Given the description of an element on the screen output the (x, y) to click on. 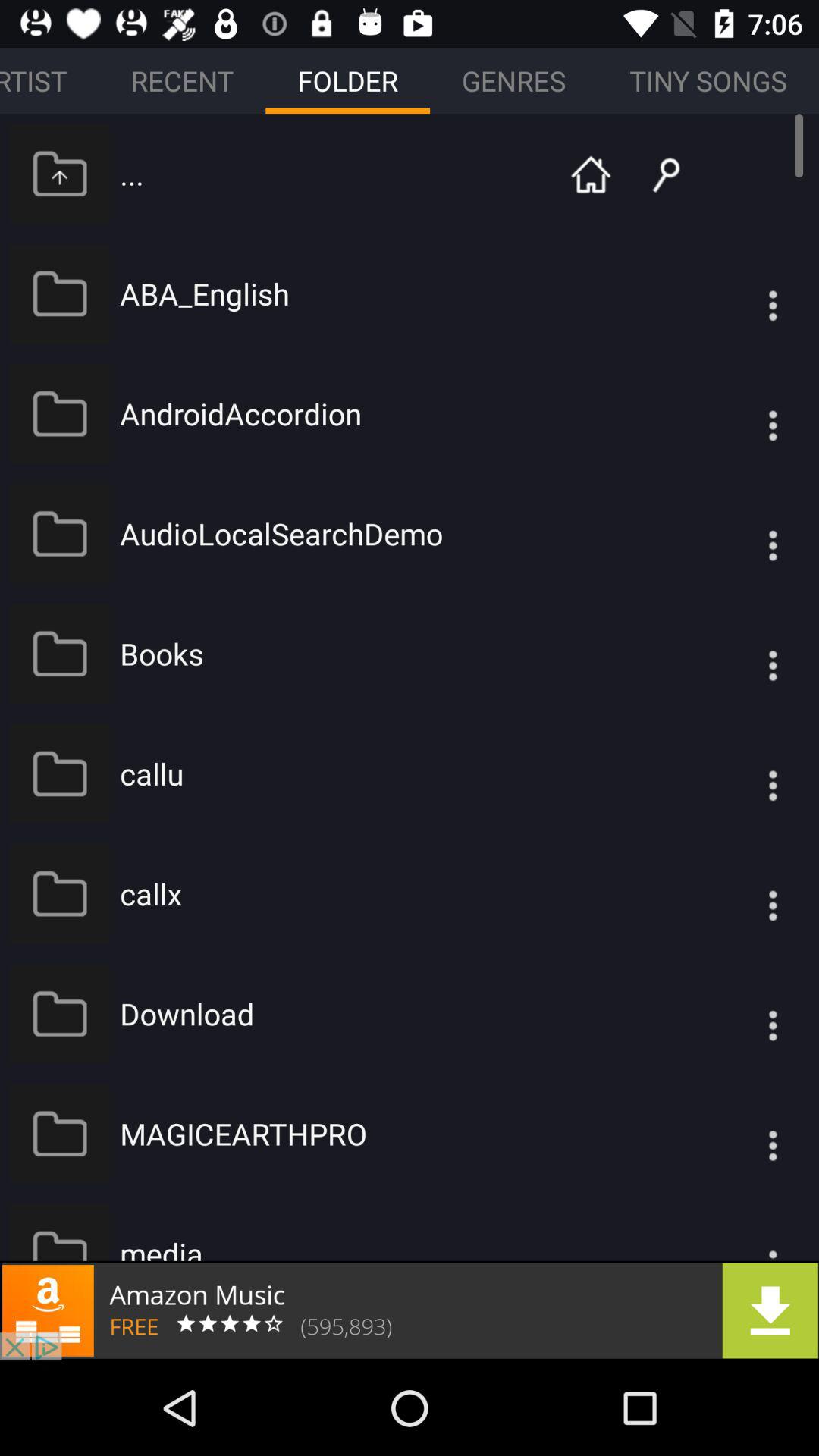
switch autoplay option (742, 653)
